Given the description of an element on the screen output the (x, y) to click on. 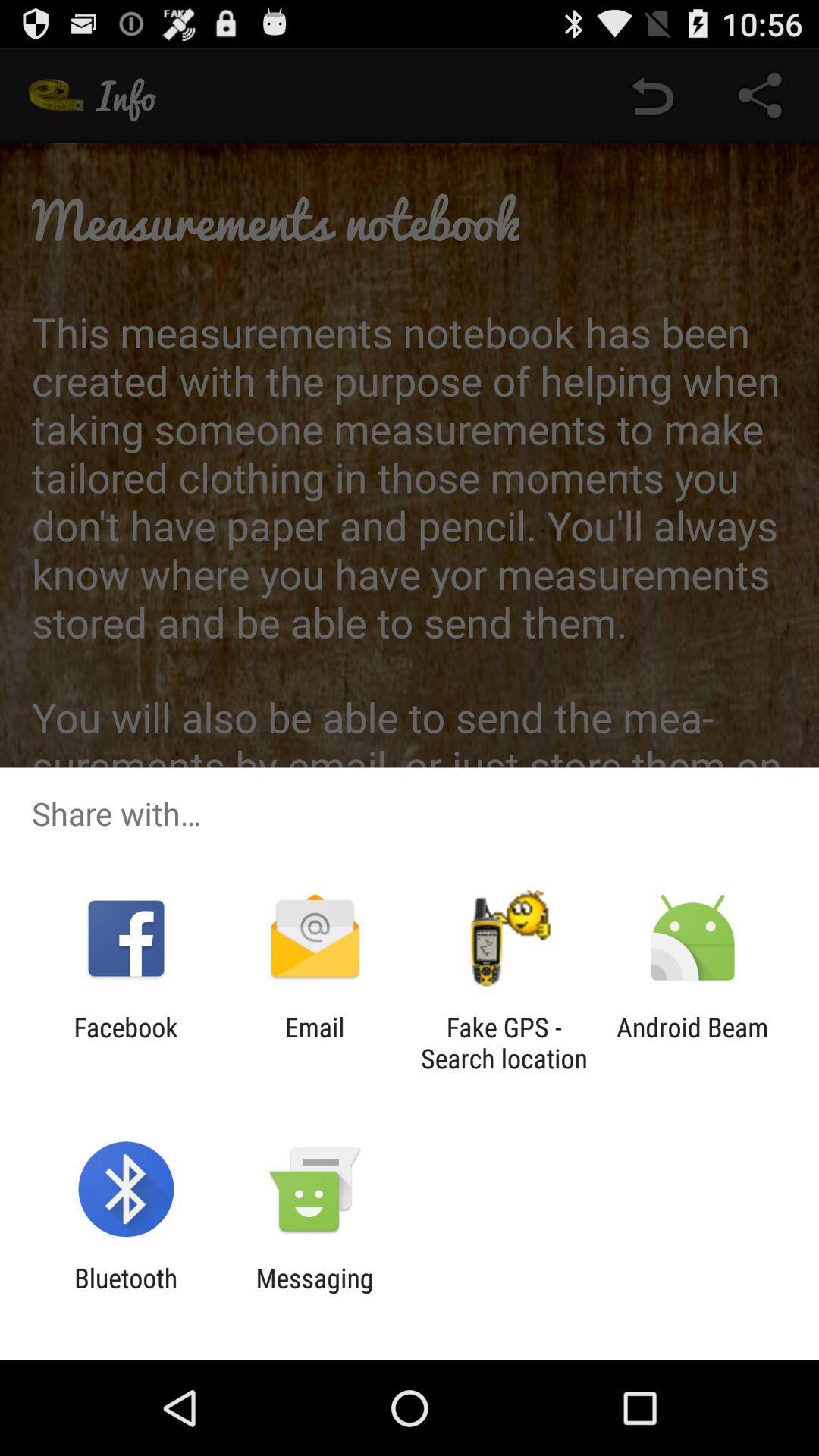
launch app to the right of fake gps search (692, 1042)
